Given the description of an element on the screen output the (x, y) to click on. 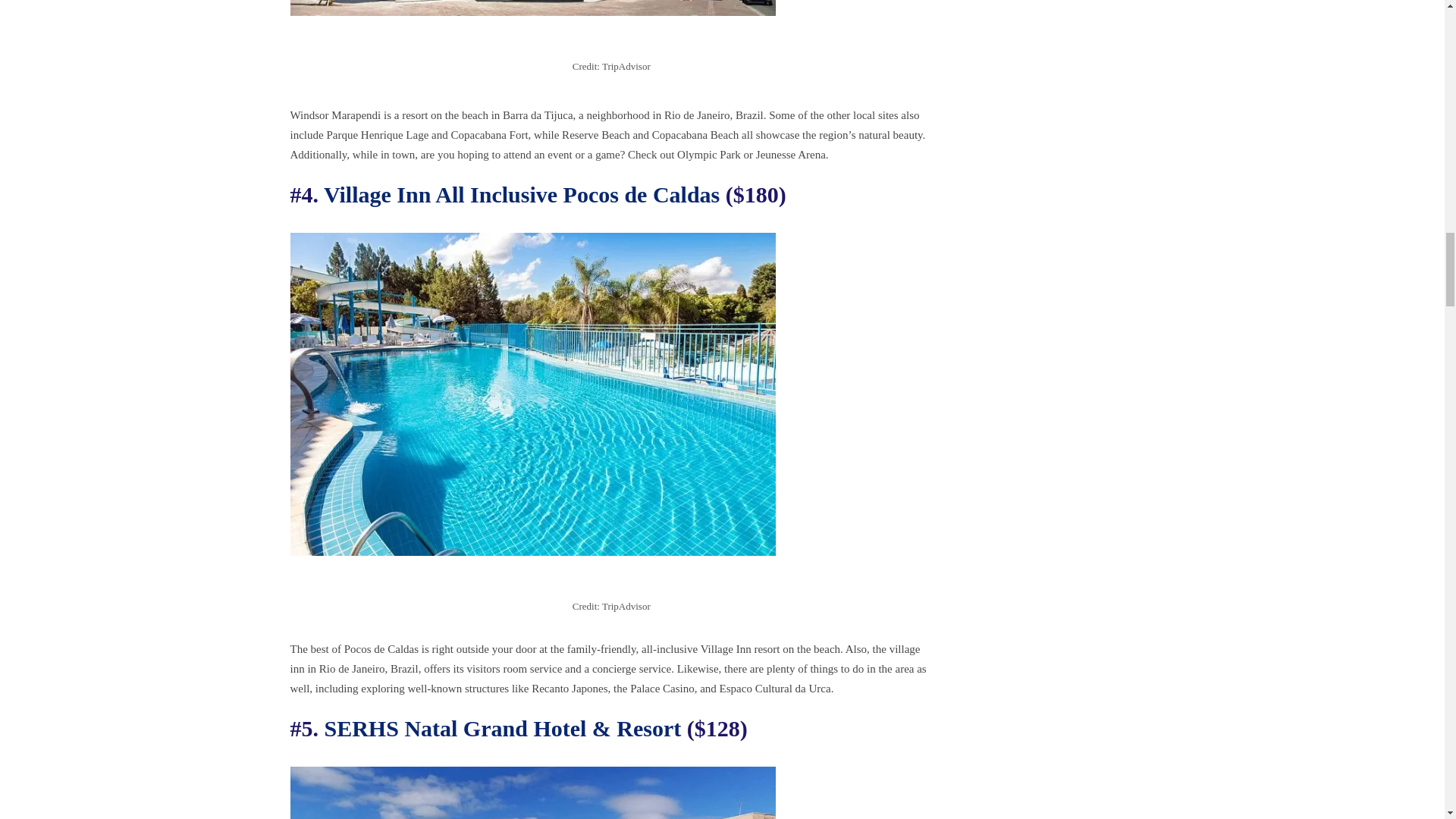
Village Inn All Inclusive Pocos de Caldas (521, 194)
